Given the description of an element on the screen output the (x, y) to click on. 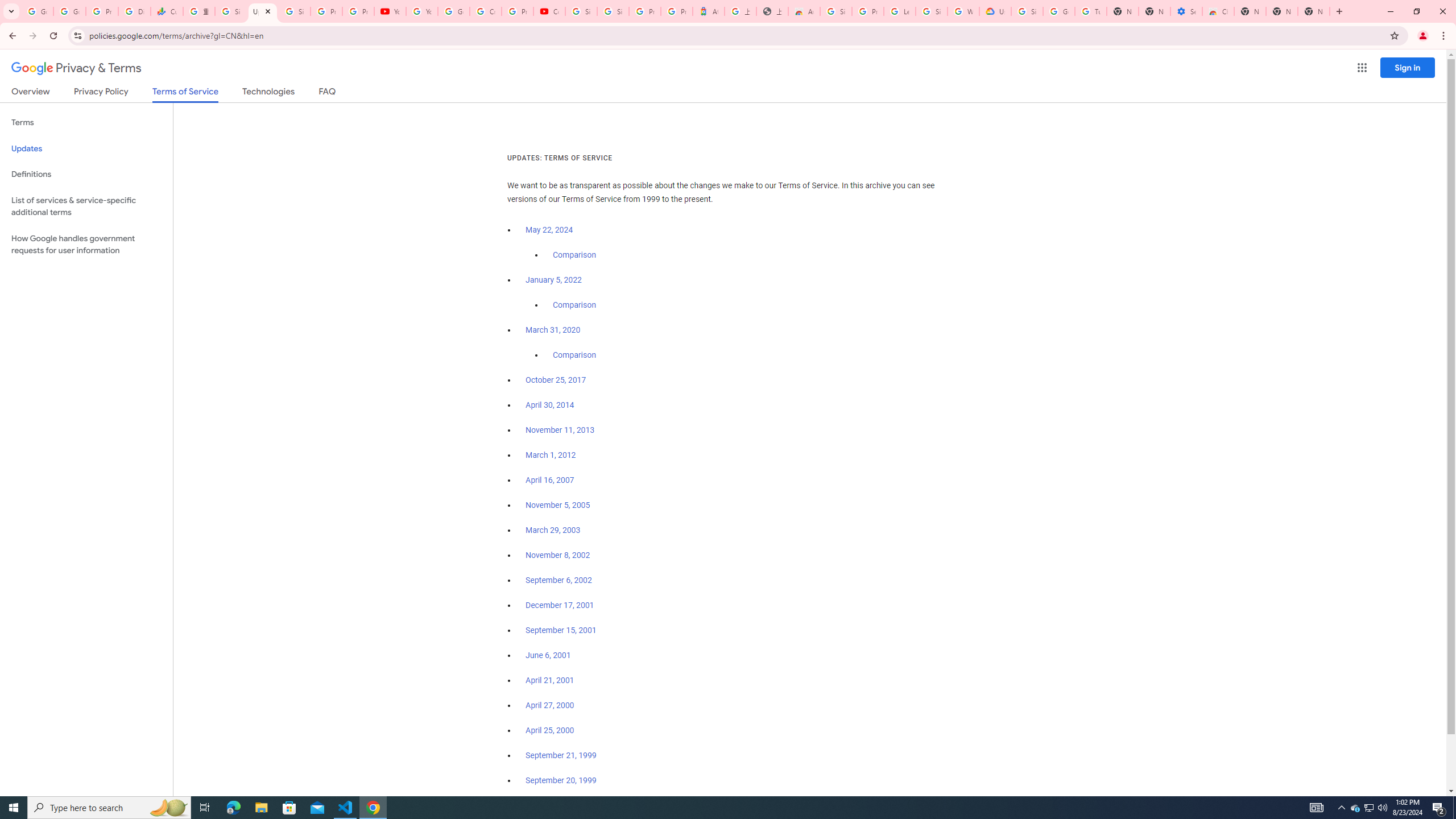
October 25, 2017 (555, 380)
Who are Google's partners? - Privacy and conditions - Google (963, 11)
Technologies (268, 93)
FAQ (327, 93)
September 21, 1999 (560, 755)
Atour Hotel - Google hotels (708, 11)
Sign in - Google Accounts (581, 11)
Sign in - Google Accounts (931, 11)
Sign in - Google Accounts (613, 11)
June 6, 2001 (547, 655)
YouTube (389, 11)
